Given the description of an element on the screen output the (x, y) to click on. 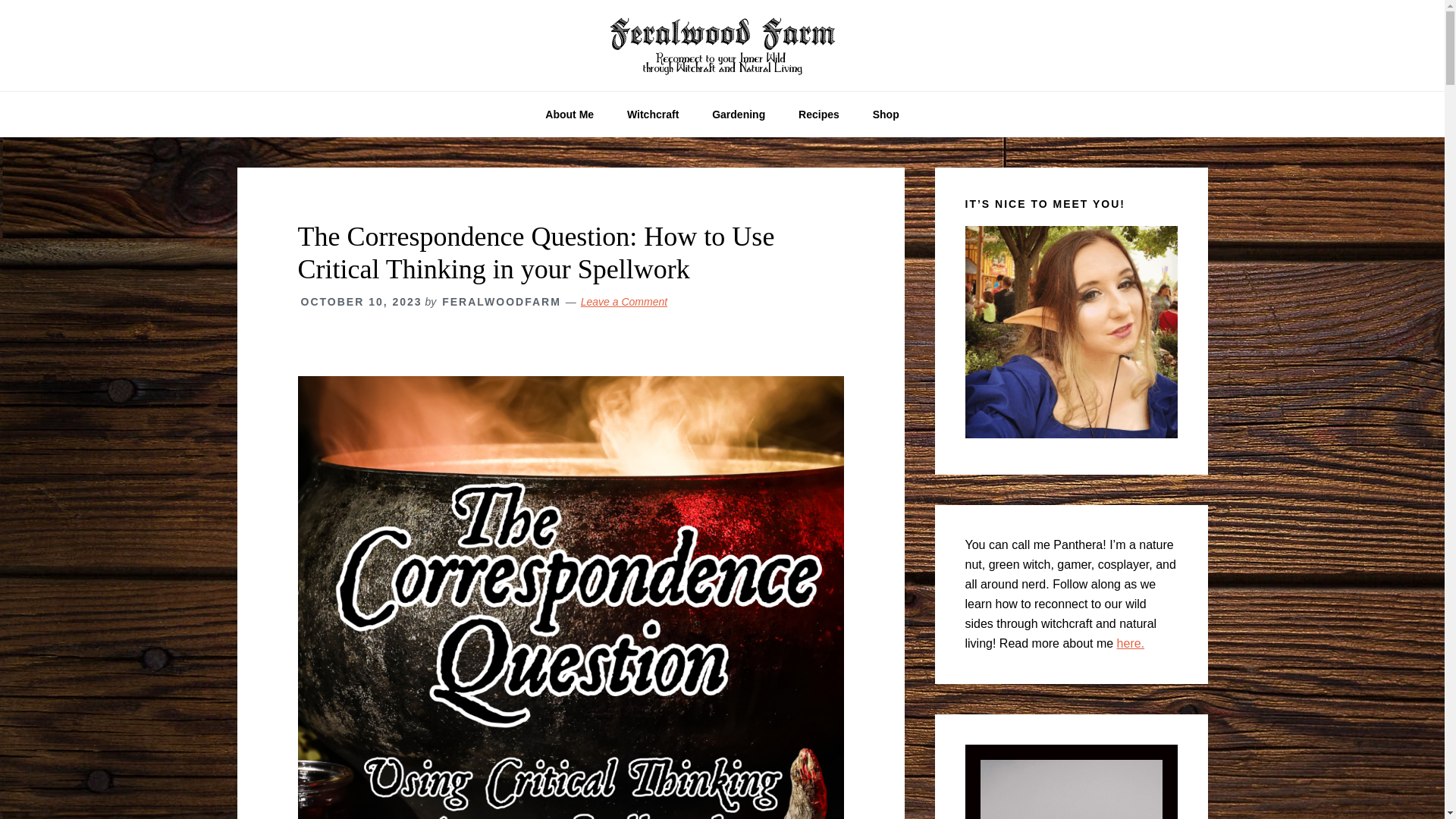
Shop (885, 114)
Recipes (818, 114)
Feralwood Farm (721, 45)
Witchcraft (652, 114)
FERALWOODFARM (501, 301)
Leave a Comment (623, 301)
About Me (568, 114)
Gardening (738, 114)
